Given the description of an element on the screen output the (x, y) to click on. 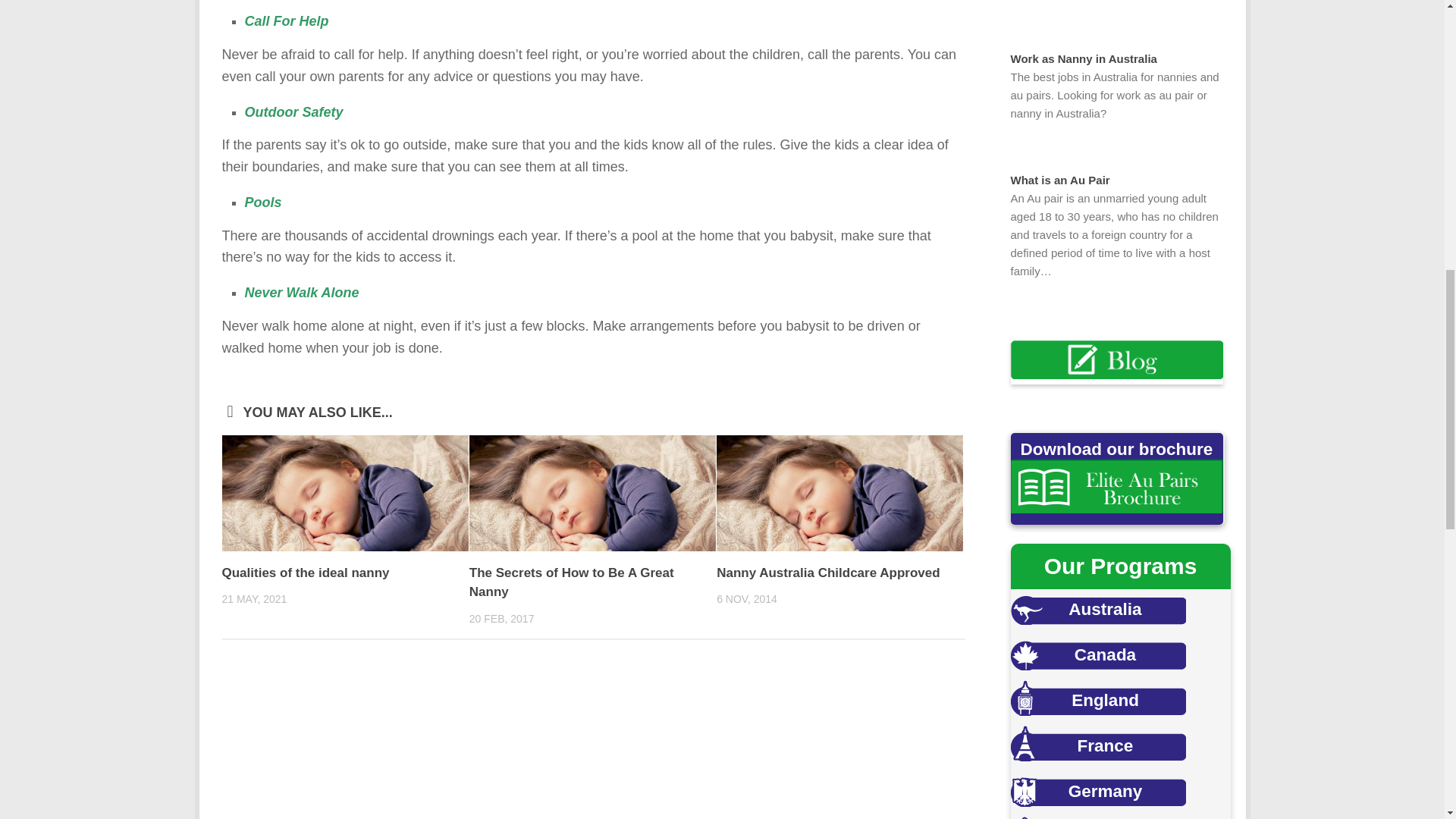
Canada (1097, 652)
England (1097, 697)
The Secrets of How to Be A Great Nanny (592, 492)
The Secrets of How to Be A Great Nanny (571, 582)
France (1097, 743)
Australia (1097, 606)
Nanny Australia Childcare Approved (827, 572)
Germany (1097, 788)
Download our brochure (1116, 485)
Nanny Australia Childcare Approved (839, 492)
